Given the description of an element on the screen output the (x, y) to click on. 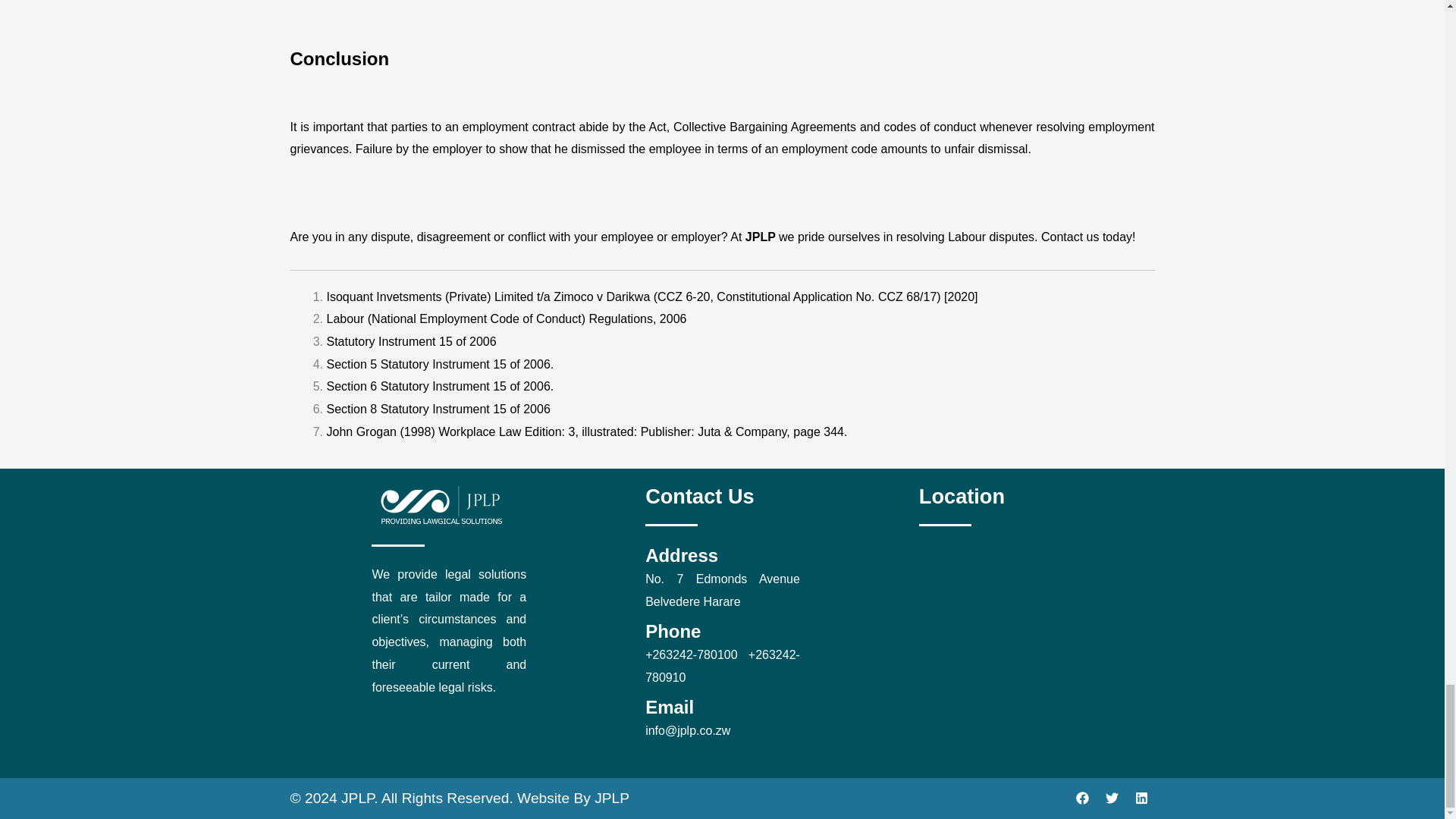
Twitter (1112, 798)
Facebook (1081, 798)
Linkedin (1141, 798)
